Given the description of an element on the screen output the (x, y) to click on. 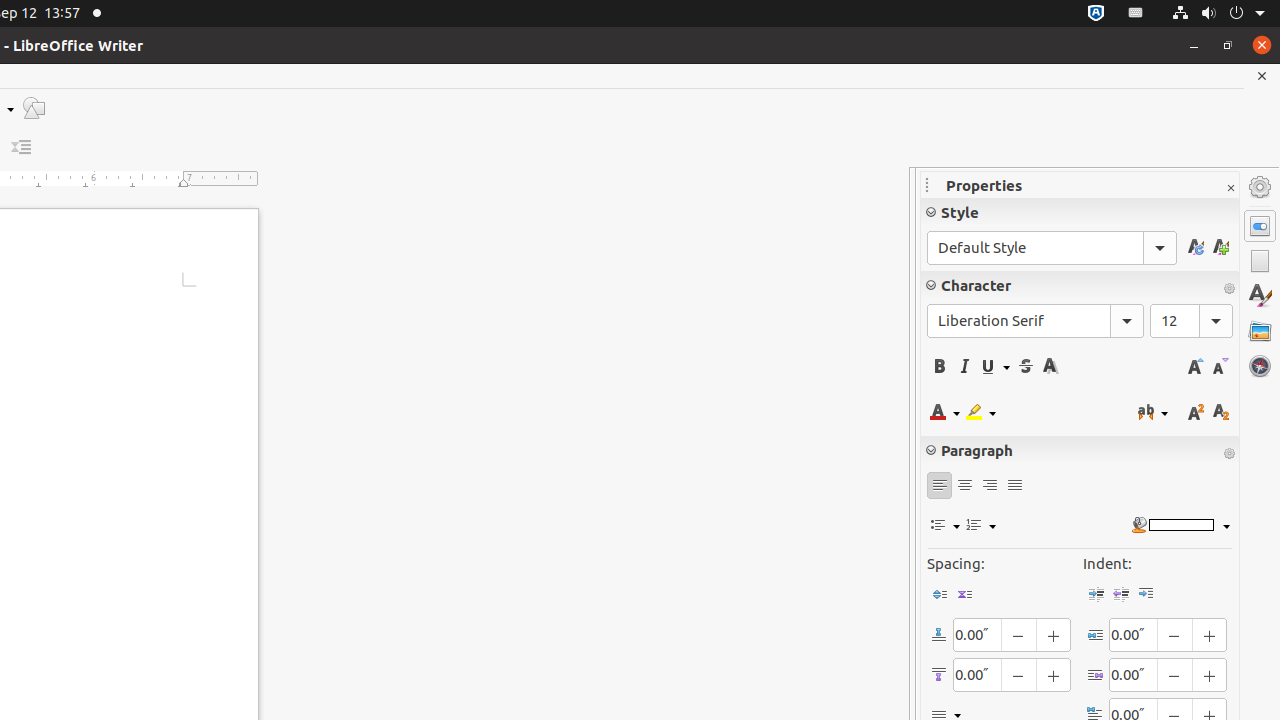
Gallery Element type: radio-button (1260, 331)
